Given the description of an element on the screen output the (x, y) to click on. 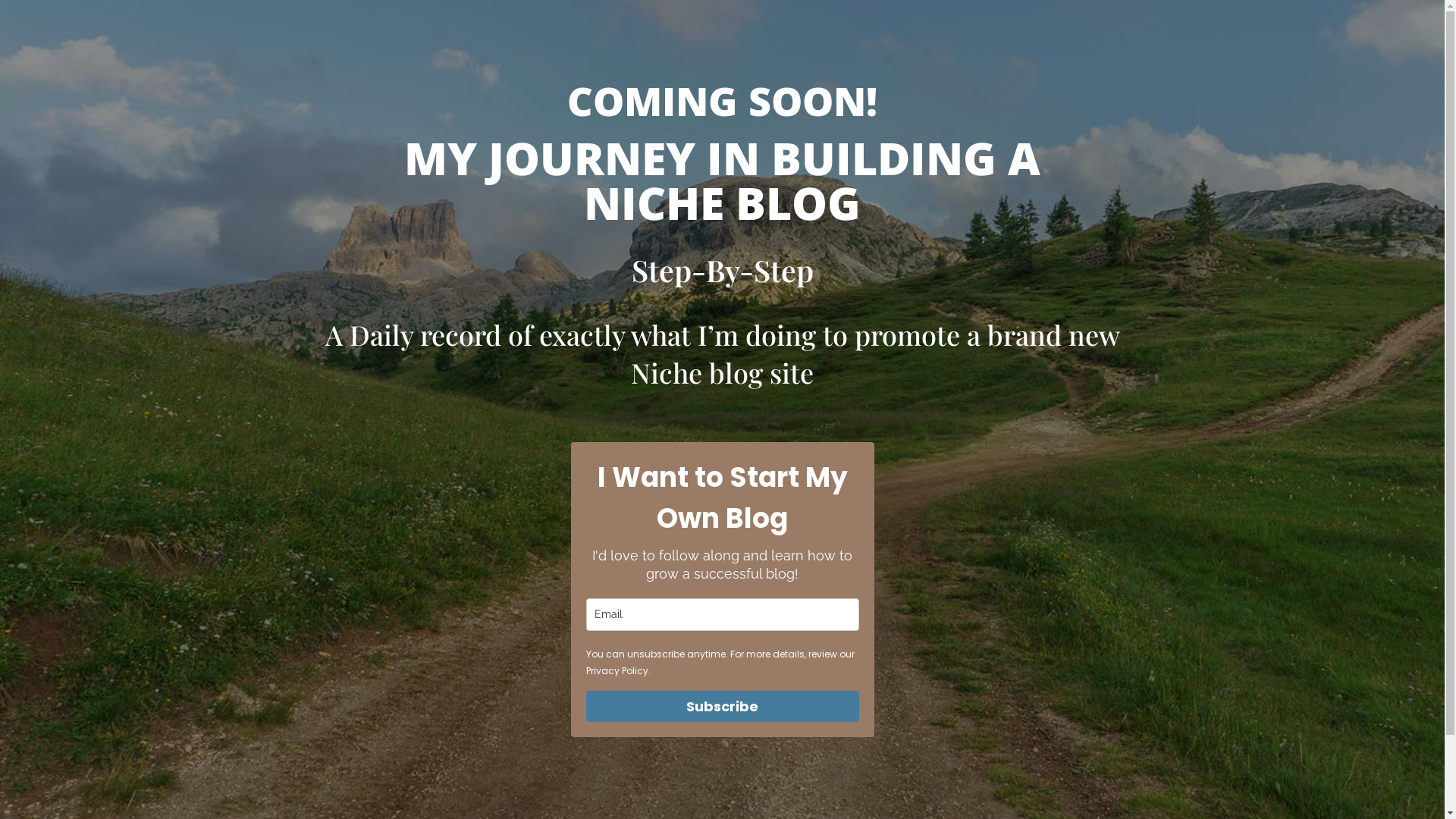
Subscribe Element type: text (721, 705)
